Given the description of an element on the screen output the (x, y) to click on. 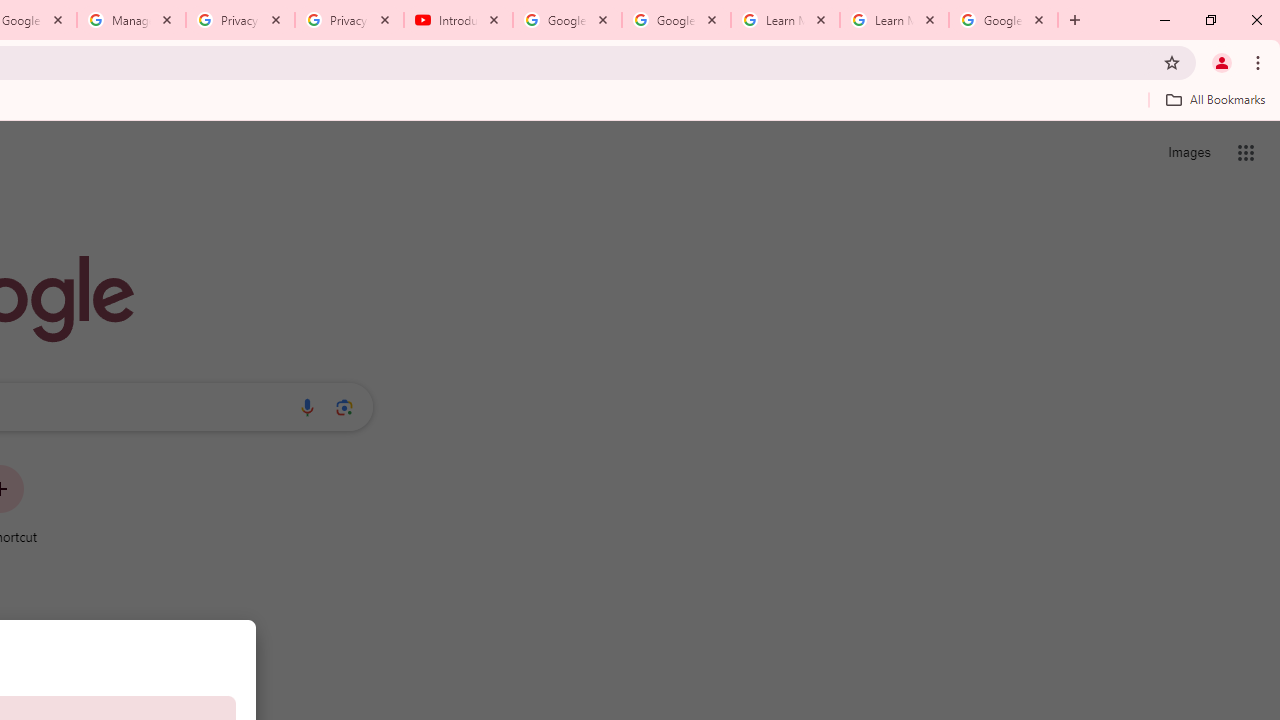
Introduction | Google Privacy Policy - YouTube (458, 20)
All Bookmarks (1215, 99)
Google Account (1003, 20)
